Given the description of an element on the screen output the (x, y) to click on. 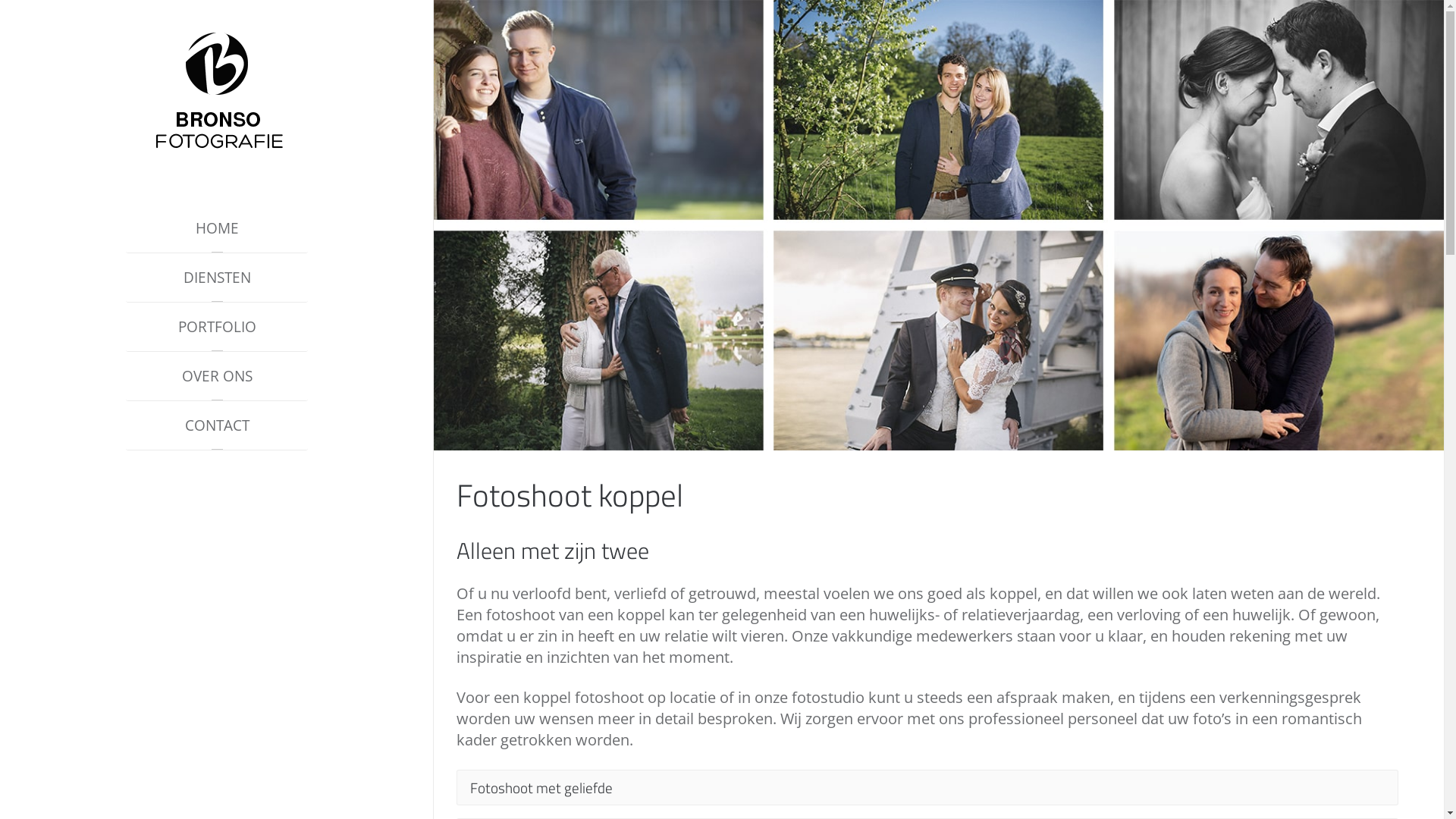
CONTACT Element type: text (216, 425)
OVER ONS Element type: text (216, 376)
DIENSTEN Element type: text (216, 277)
HOME Element type: text (216, 228)
PORTFOLIO Element type: text (216, 326)
